Given the description of an element on the screen output the (x, y) to click on. 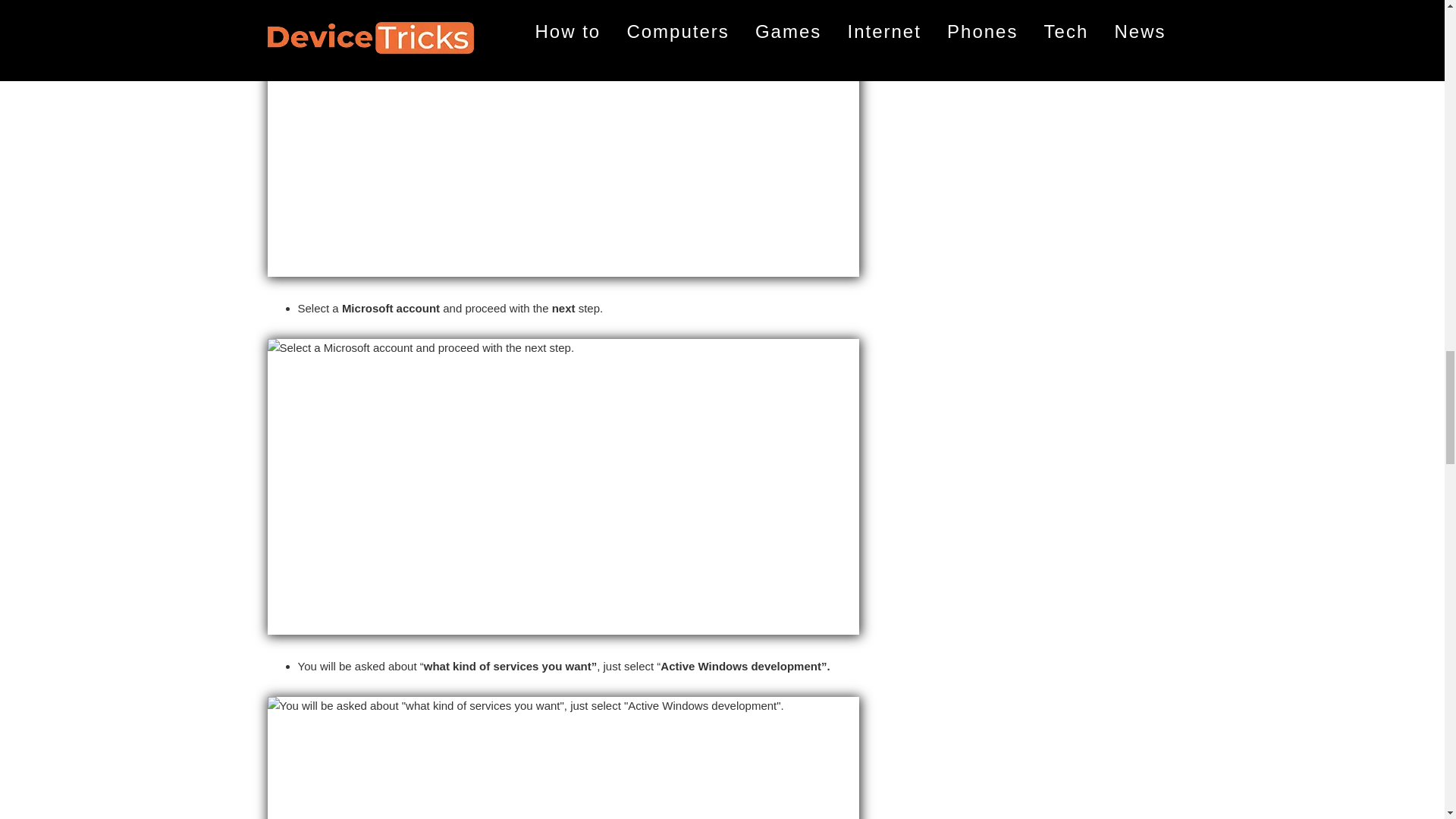
How to Install Windows 10 October 2018 Update right now ? (562, 757)
